Given the description of an element on the screen output the (x, y) to click on. 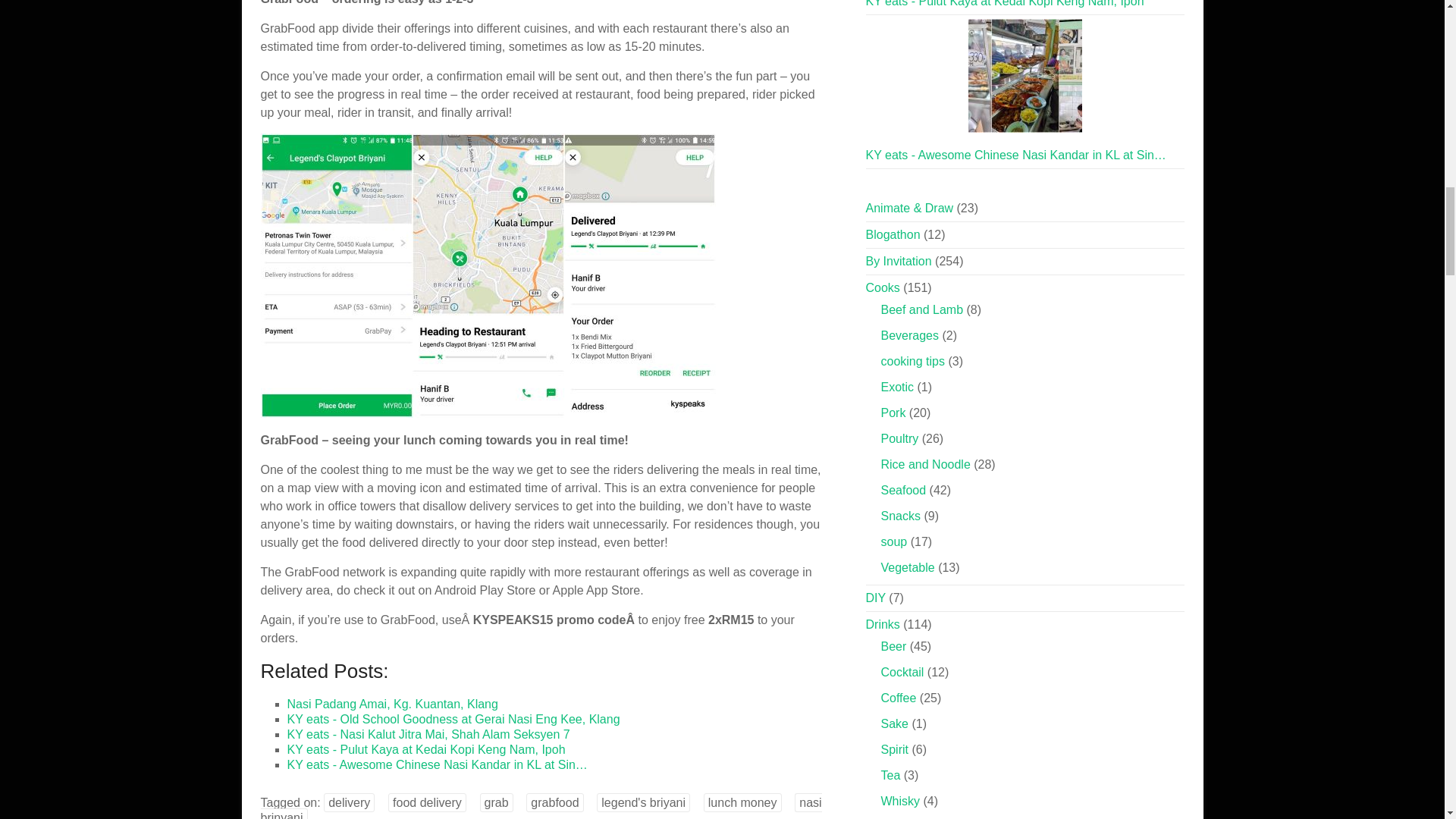
KY eats - Pulut Kaya at Kedai Kopi Keng Nam, Ipoh (425, 748)
nasi brinyani (541, 806)
KY eats - Nasi Kalut Jitra Mai, Shah Alam Seksyen 7 (427, 734)
KY eats - Old School Goodness at Gerai Nasi Eng Kee, Klang (453, 718)
Nasi Padang Amai, Kg. Kuantan, Klang (391, 703)
lunch money (742, 802)
delivery (348, 802)
legend's briyani (643, 802)
food delivery (426, 802)
grabfood (554, 802)
grab (496, 802)
